Given the description of an element on the screen output the (x, y) to click on. 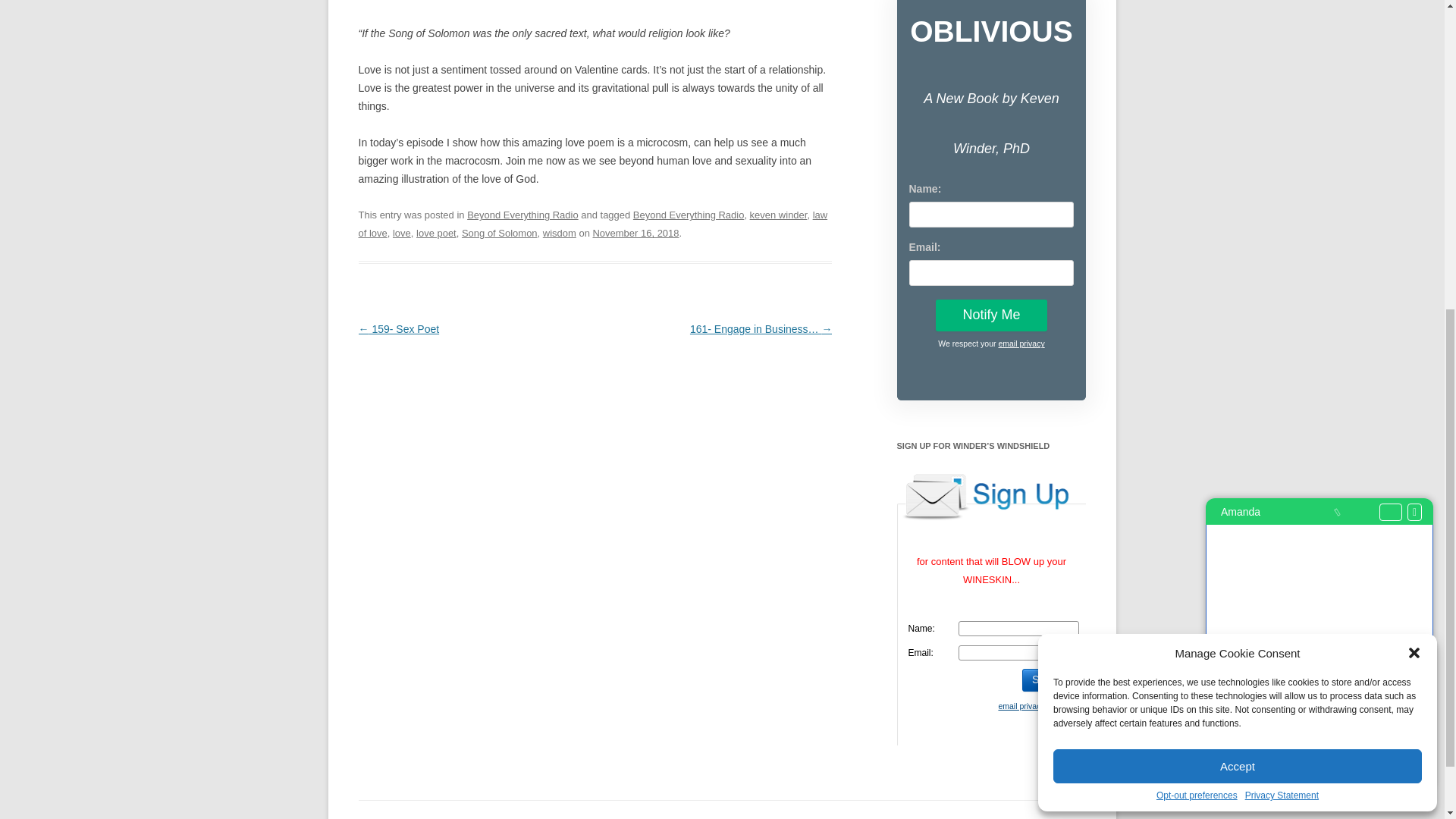
Privacy Policy (1020, 705)
Notify Me (991, 315)
Privacy Policy (1020, 343)
Privacy Statement (1281, 261)
Accept (1237, 232)
3:27 pm (635, 233)
Opt-out preferences (1196, 261)
Submit (1048, 680)
